Given the description of an element on the screen output the (x, y) to click on. 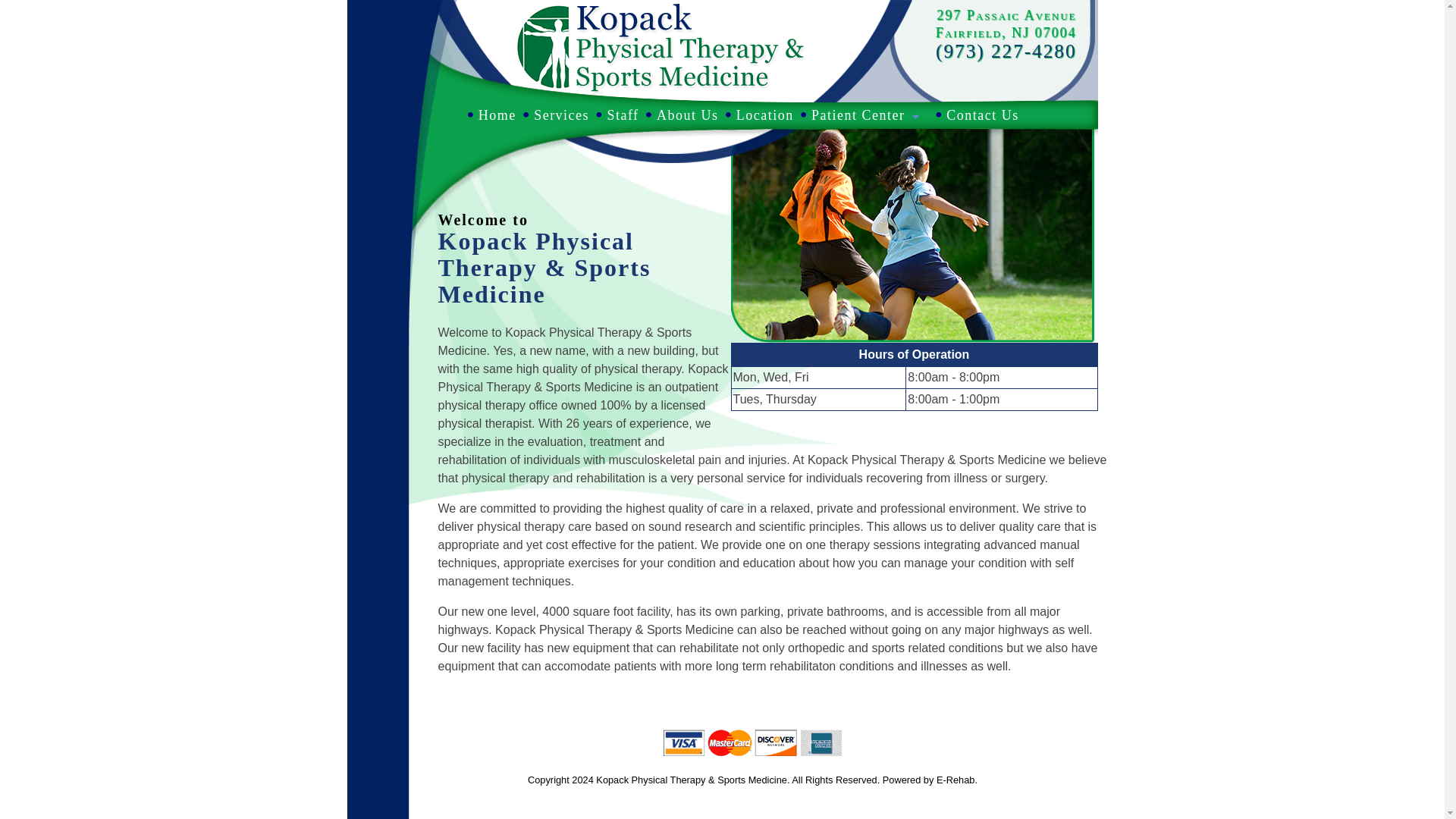
About Us (679, 114)
Powered by E-Rehab. (929, 779)
Contact Us (973, 114)
Services (552, 114)
Location (755, 114)
Home (488, 114)
Staff (614, 114)
